Given the description of an element on the screen output the (x, y) to click on. 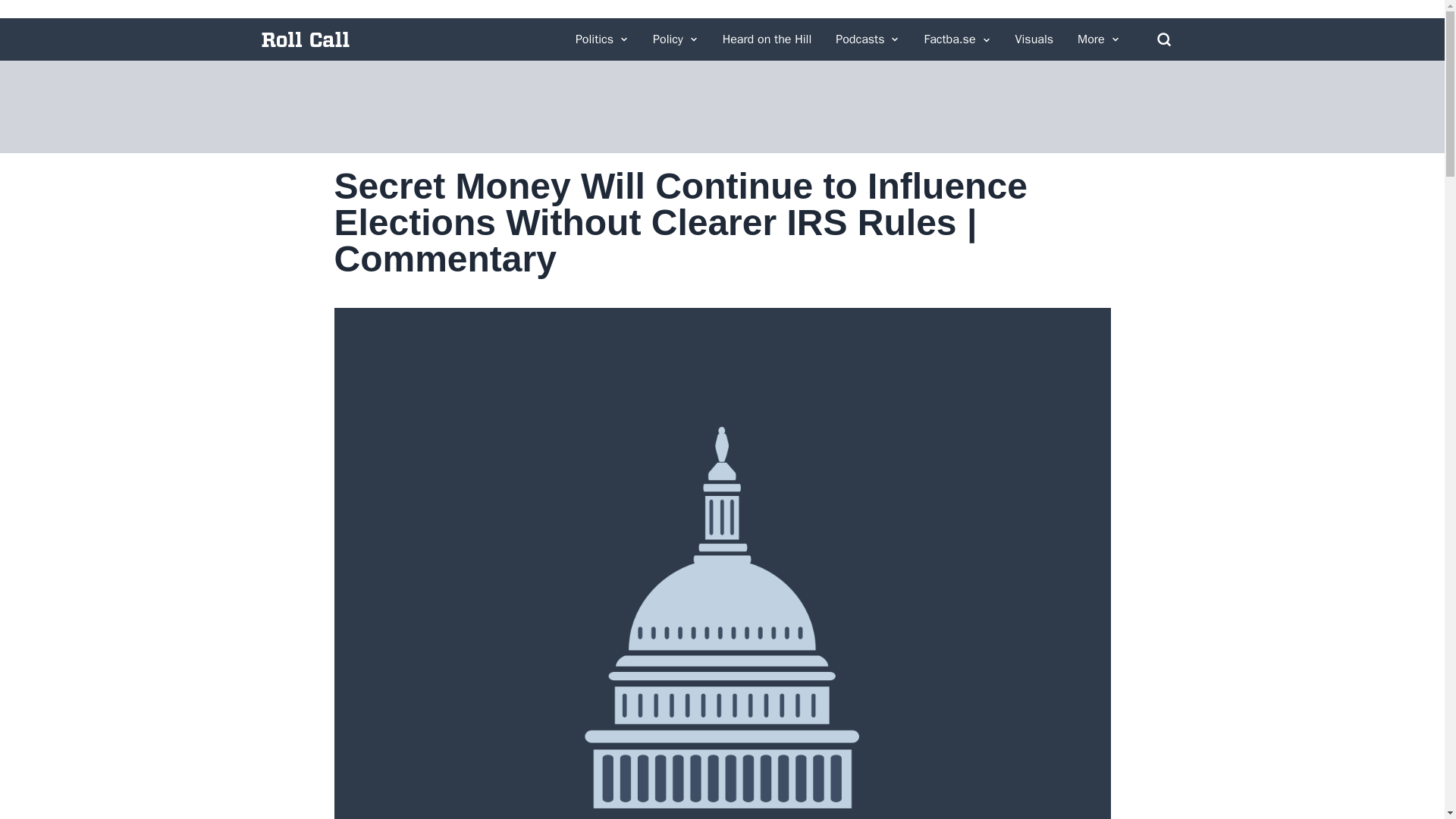
3rd party ad content (721, 106)
